Given the description of an element on the screen output the (x, y) to click on. 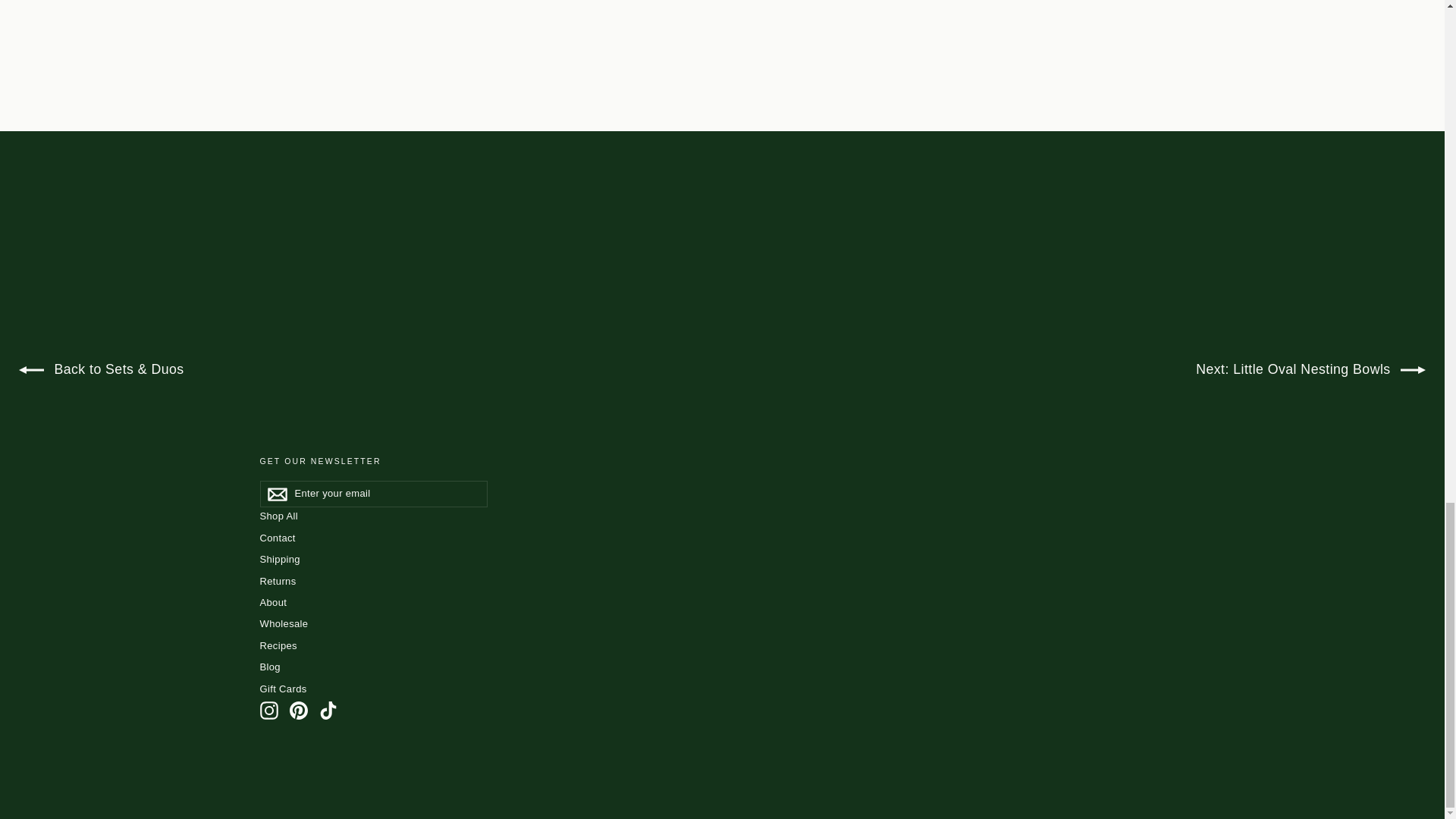
Moodbeli on Instagram (268, 710)
Moodbeli on Pinterest (298, 710)
instagram (268, 710)
Moodbeli on TikTok (327, 710)
icon-email (276, 494)
